Given the description of an element on the screen output the (x, y) to click on. 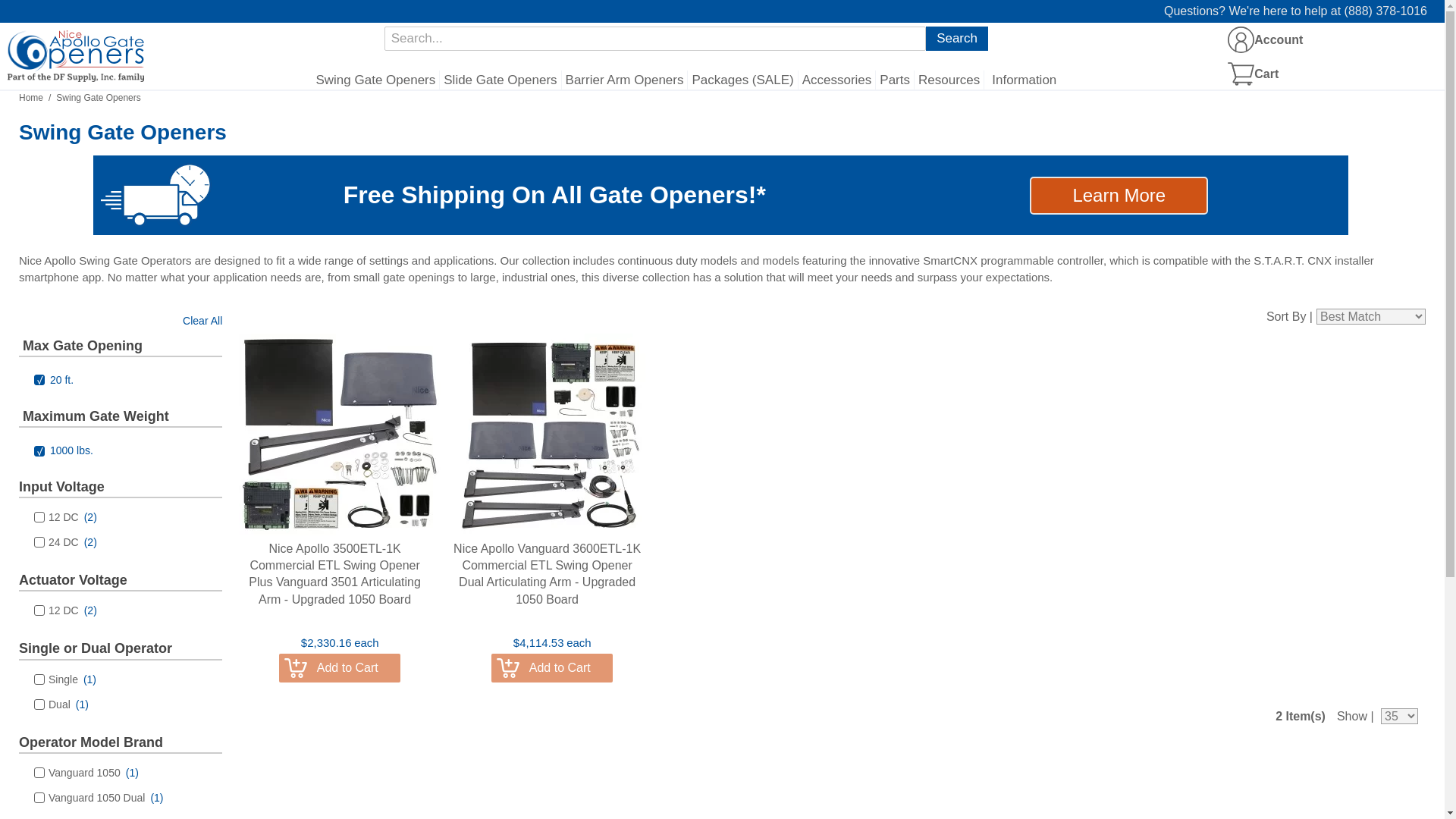
Search (957, 38)
Learn More (1118, 195)
Slide Gate Openers (500, 80)
Information (1022, 80)
Add to Cart (552, 667)
Account (1240, 39)
Sort By (1370, 316)
Cart (1258, 73)
Accessories (837, 80)
